Given the description of an element on the screen output the (x, y) to click on. 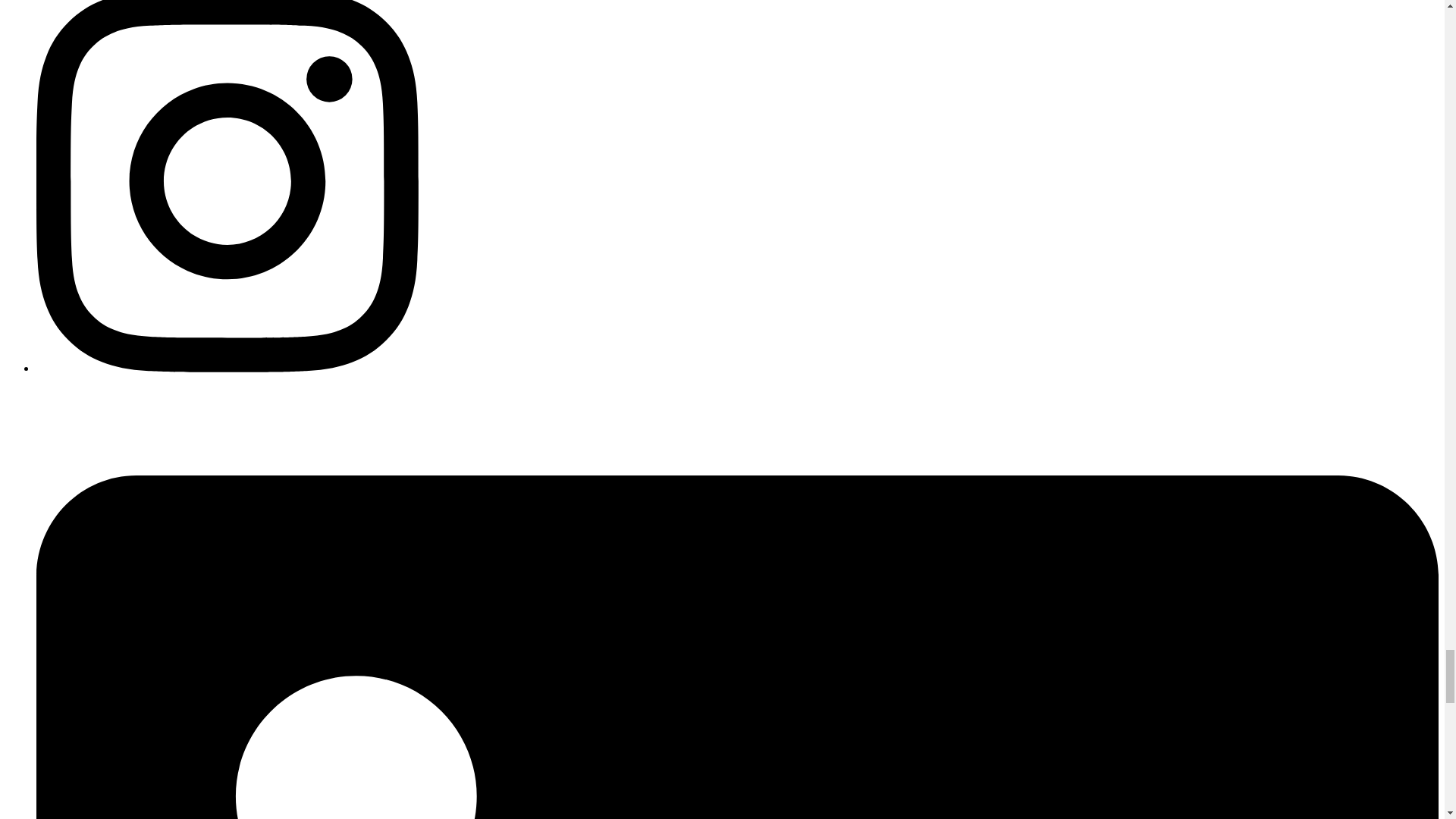
Instagram (227, 367)
